Given the description of an element on the screen output the (x, y) to click on. 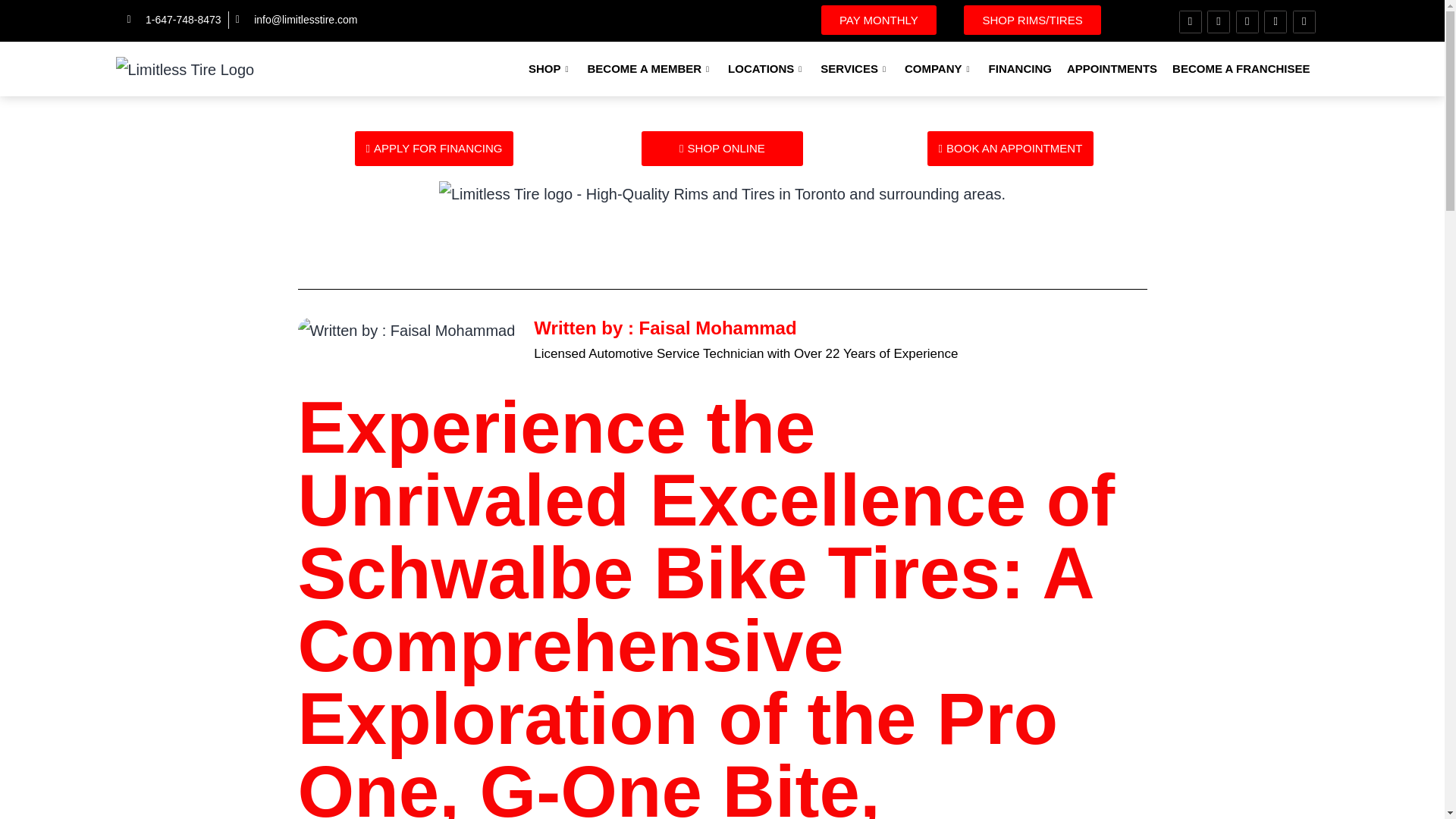
SERVICES (854, 68)
SHOP (550, 68)
BECOME A MEMBER (649, 68)
LOCATIONS (766, 68)
1-647-748-8473 (174, 20)
PAY MONTHLY (878, 19)
